Given the description of an element on the screen output the (x, y) to click on. 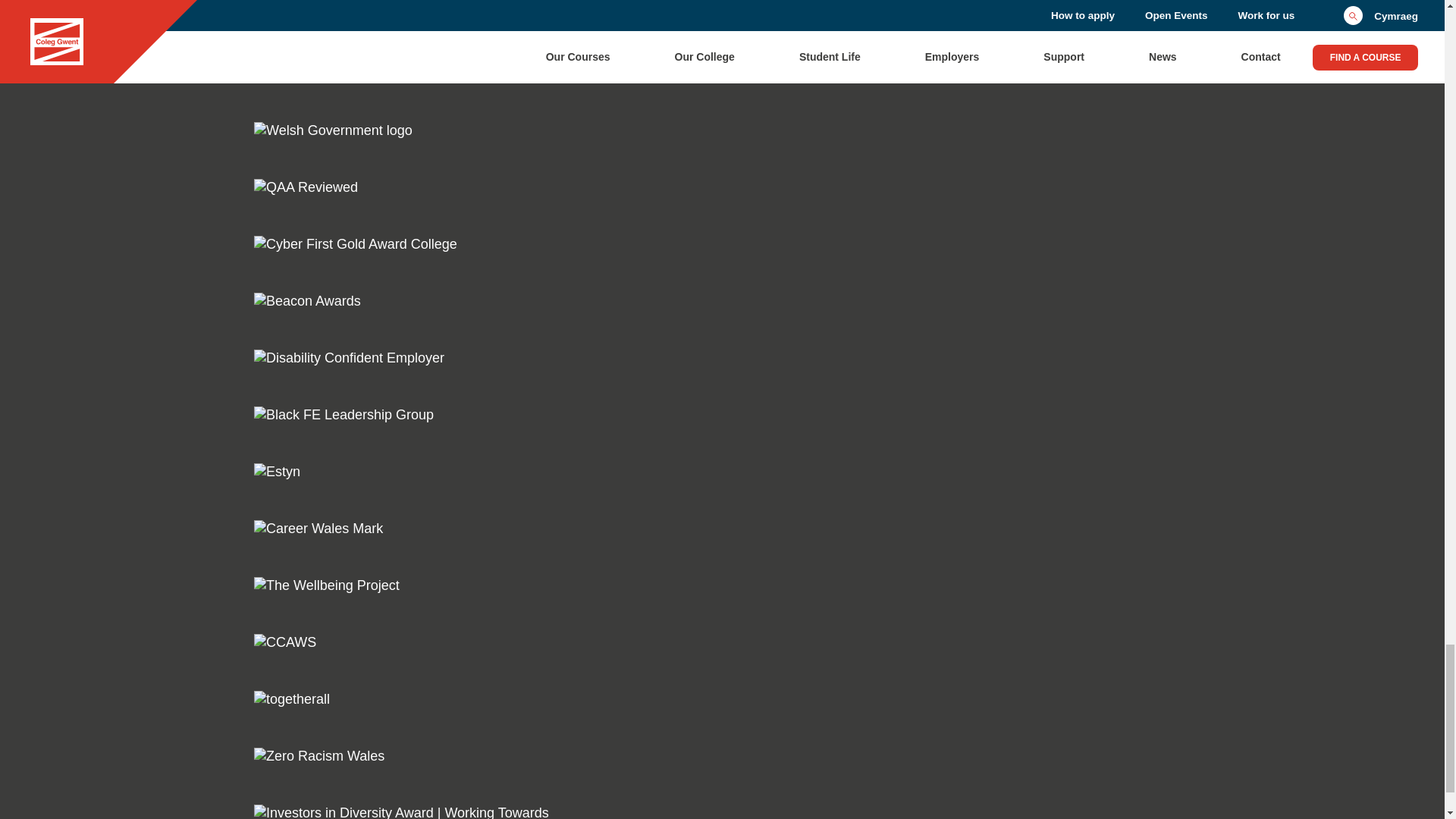
Find us on Facebook (263, 0)
